Given the description of an element on the screen output the (x, y) to click on. 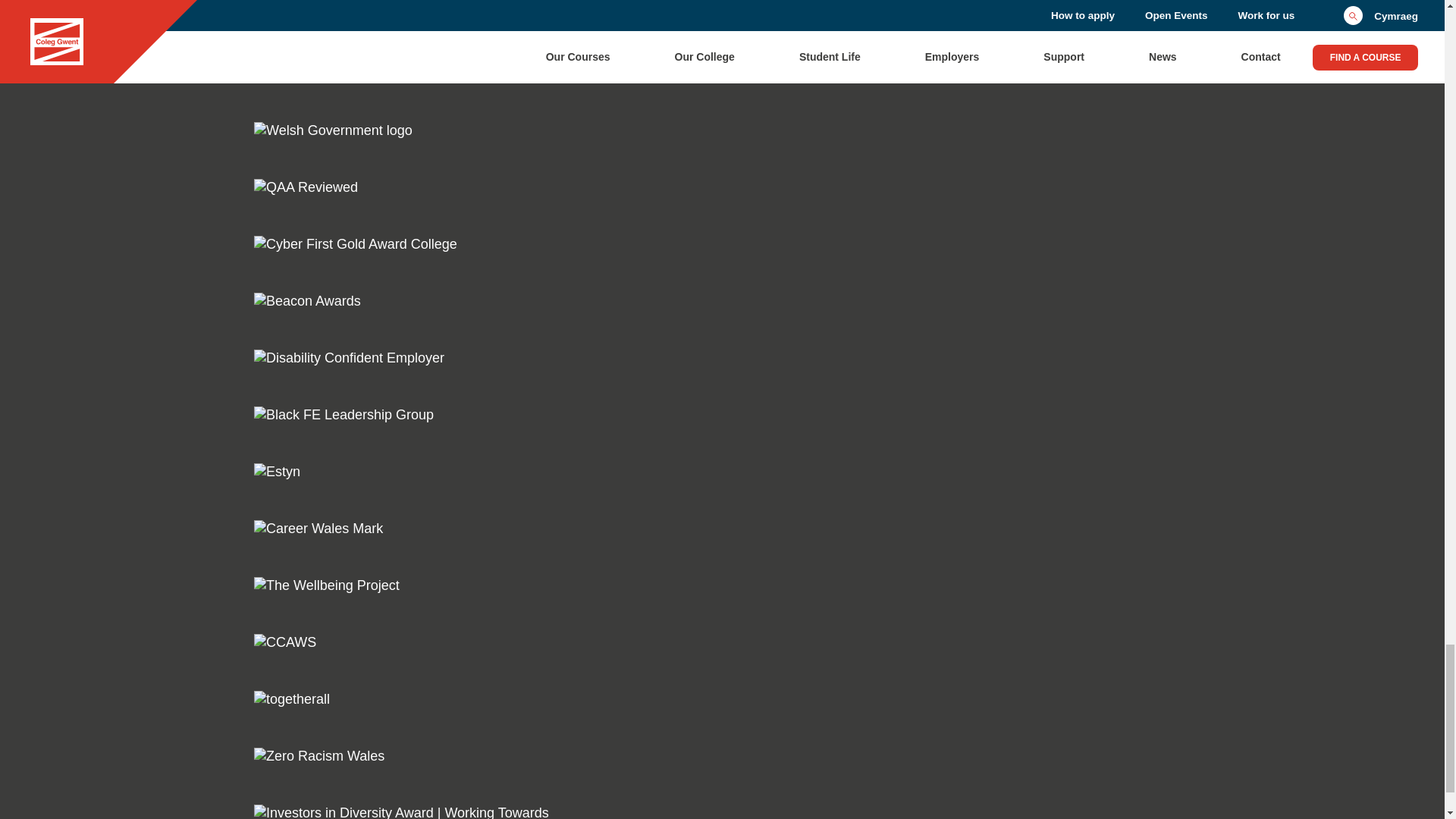
Find us on Facebook (263, 0)
